Given the description of an element on the screen output the (x, y) to click on. 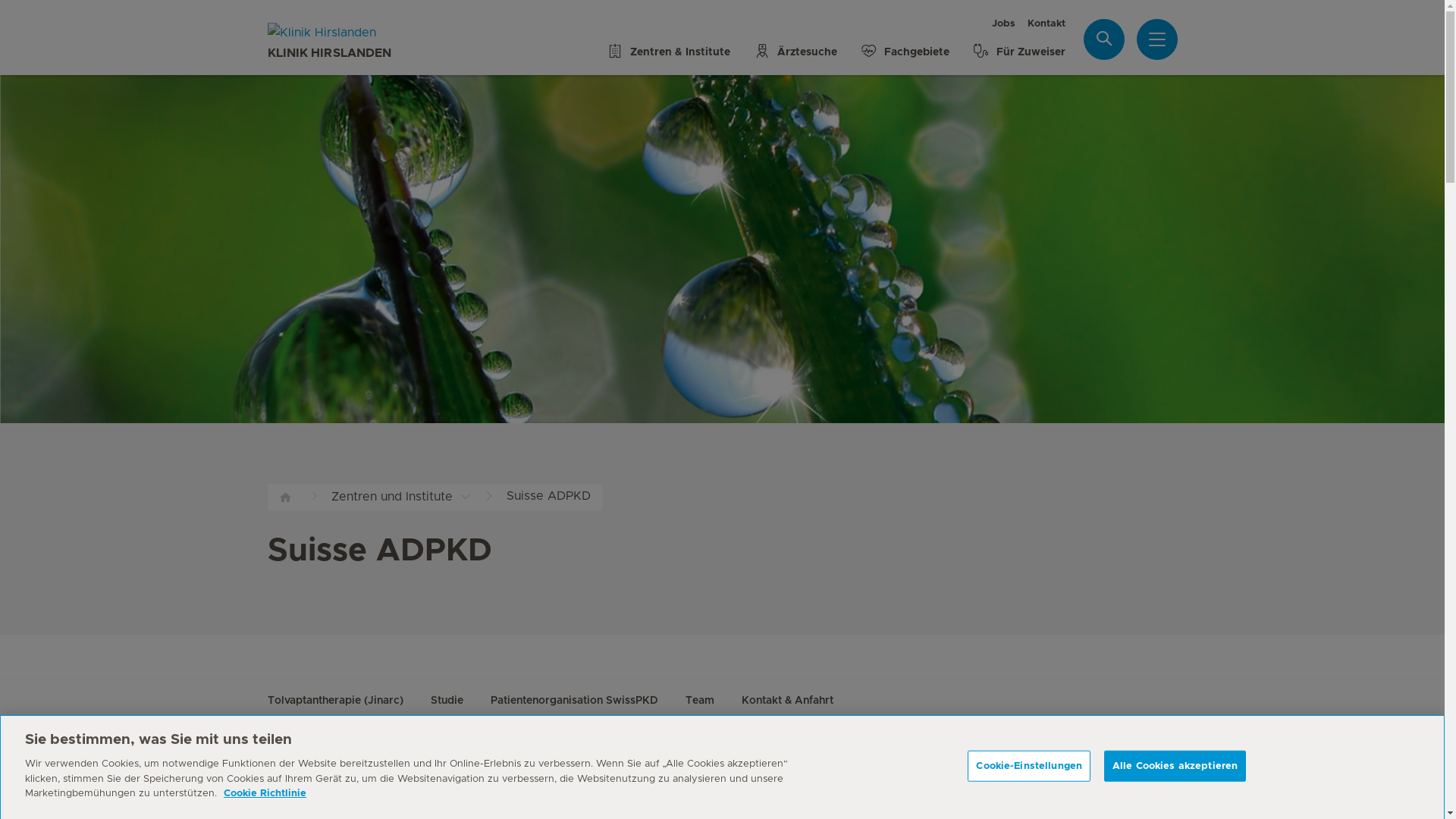
Cookie Richtlinie Element type: text (264, 793)
Alle Cookies akzeptieren Element type: text (1174, 765)
Fachgebiete Element type: text (904, 45)
Suche Element type: text (1104, 38)
Kontakt Element type: text (1045, 23)
Jobs Element type: text (1003, 23)
Team Element type: text (699, 701)
Cookie-Einstellungen Element type: text (1028, 765)
Zentren & Institute Element type: text (667, 45)
Zentren und Institute Element type: text (417, 496)
Studie Element type: text (446, 701)
Patientenorganisation SwissPKD Element type: text (573, 701)
Tolvaptantherapie (Jinarc) Element type: text (334, 701)
Kontakt & Anfahrt Element type: text (787, 701)
Klinik Hirslanden Element type: hover (349, 32)
KLINIK HIRSLANDEN Element type: text (349, 40)
